Given the description of an element on the screen output the (x, y) to click on. 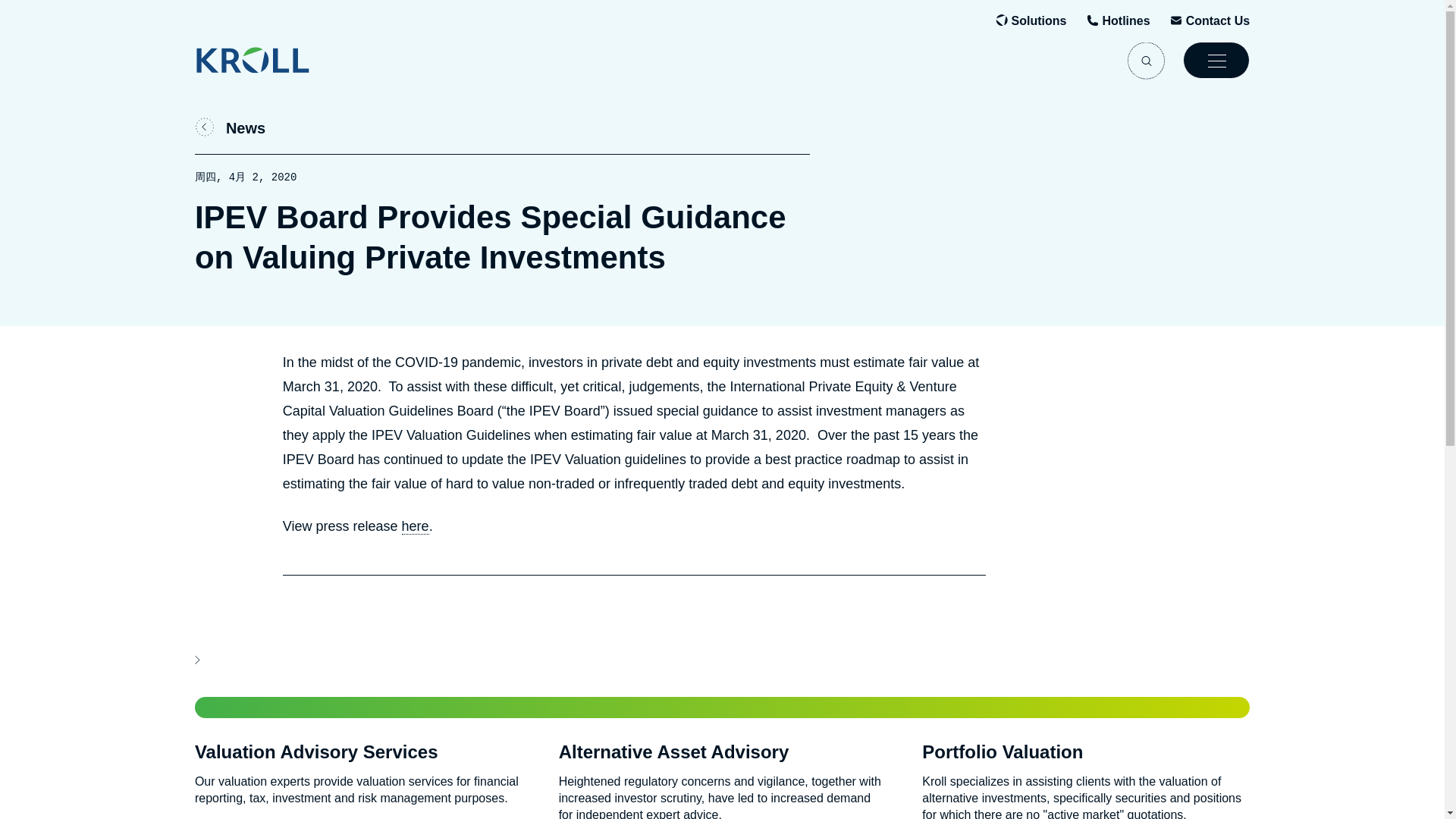
Hotlines (1126, 21)
Burger-Icon (1215, 59)
Search-Icon (1145, 59)
dropdown (1215, 59)
Solutions (1039, 21)
Kroll-Logo (283, 59)
search (1145, 59)
Contact Us (1217, 21)
Phone (1126, 21)
Send Message (1217, 21)
